Given the description of an element on the screen output the (x, y) to click on. 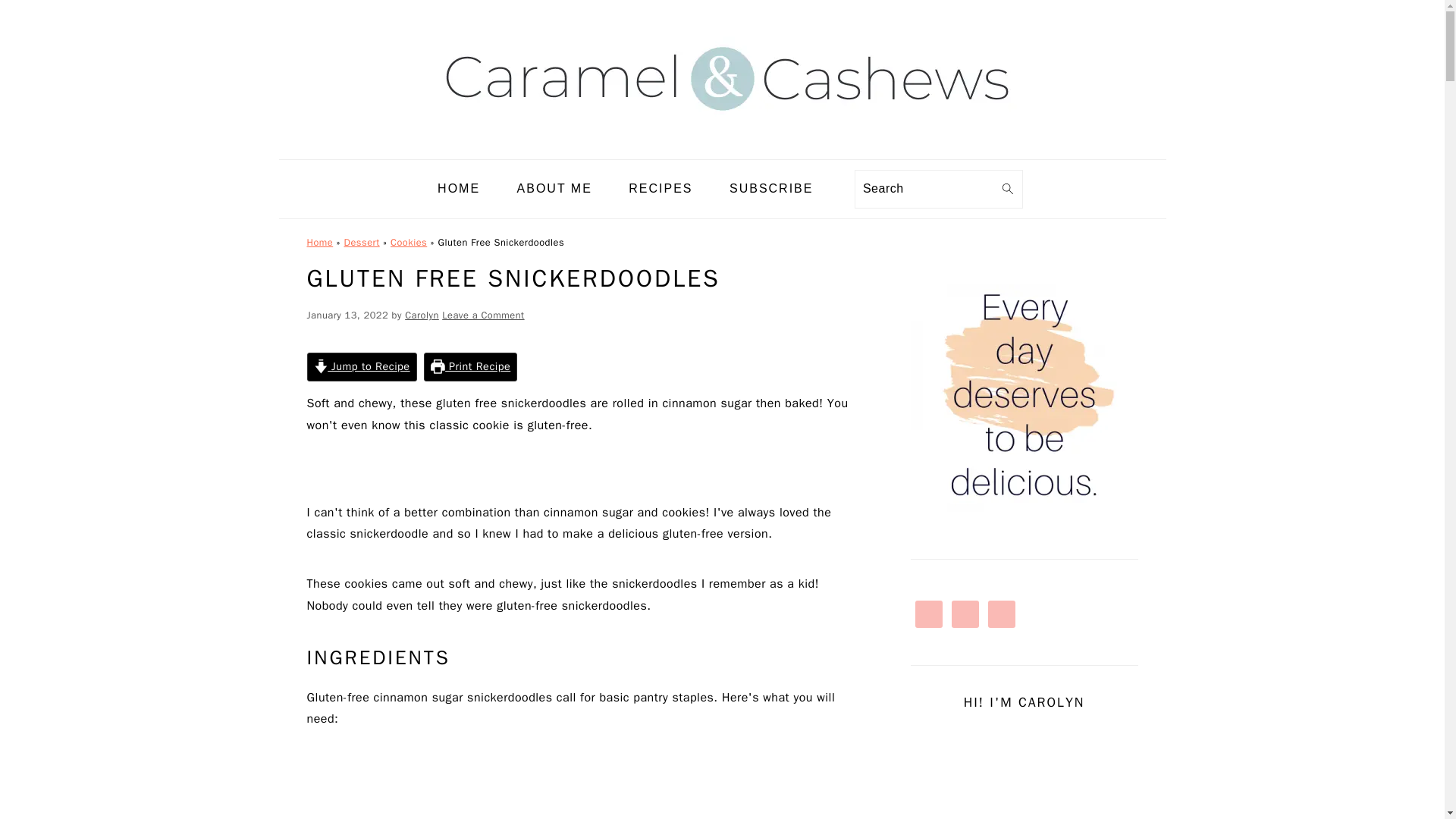
Cookies (408, 242)
SUBSCRIBE (770, 188)
Print Recipe (469, 366)
ABOUT ME (554, 188)
Dessert (361, 242)
Home (319, 242)
Carolyn (421, 315)
